Given the description of an element on the screen output the (x, y) to click on. 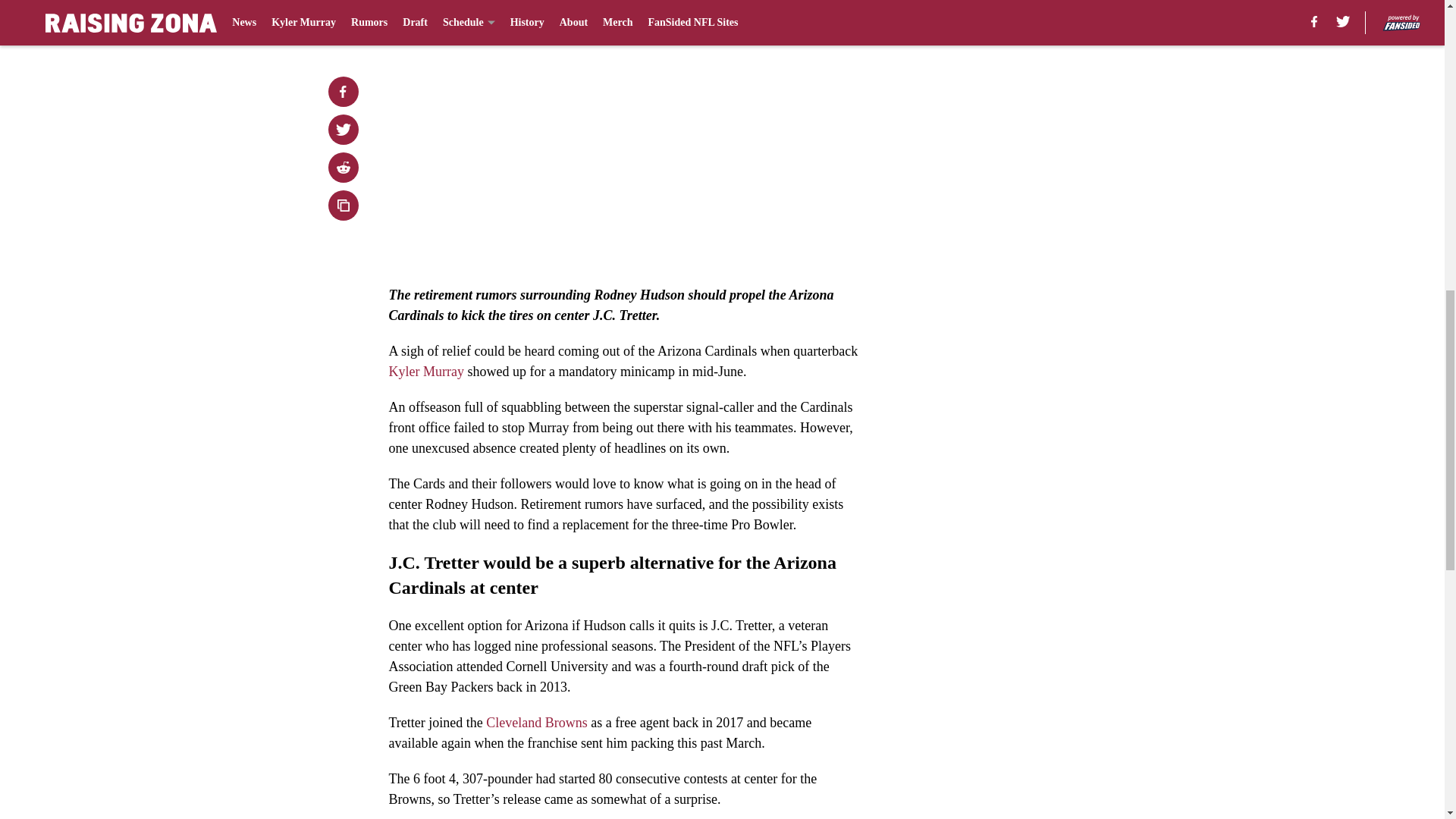
Cleveland Browns (536, 722)
Kyler Murray (425, 371)
